Given the description of an element on the screen output the (x, y) to click on. 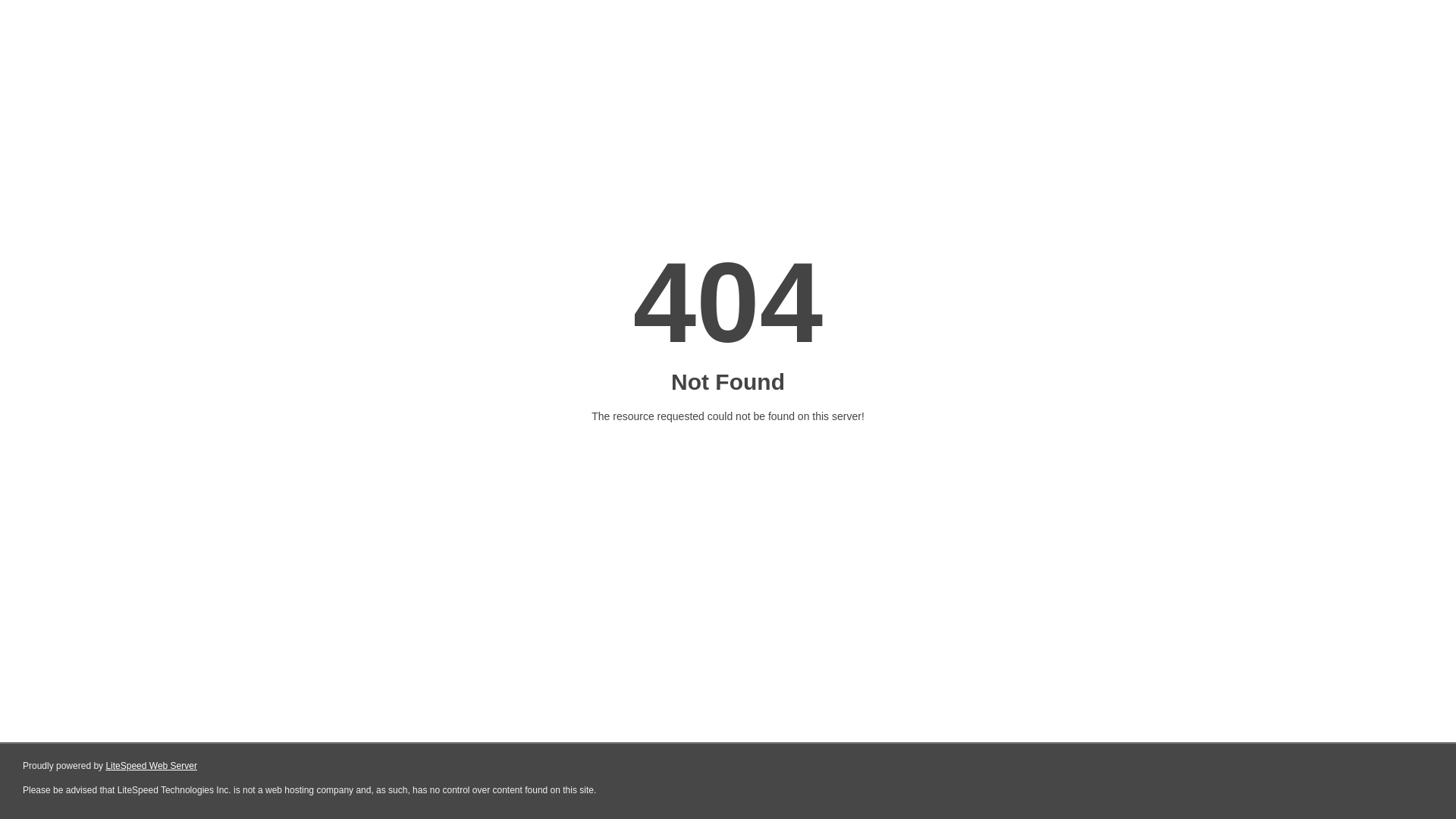
LiteSpeed Web Server Element type: text (151, 765)
